Given the description of an element on the screen output the (x, y) to click on. 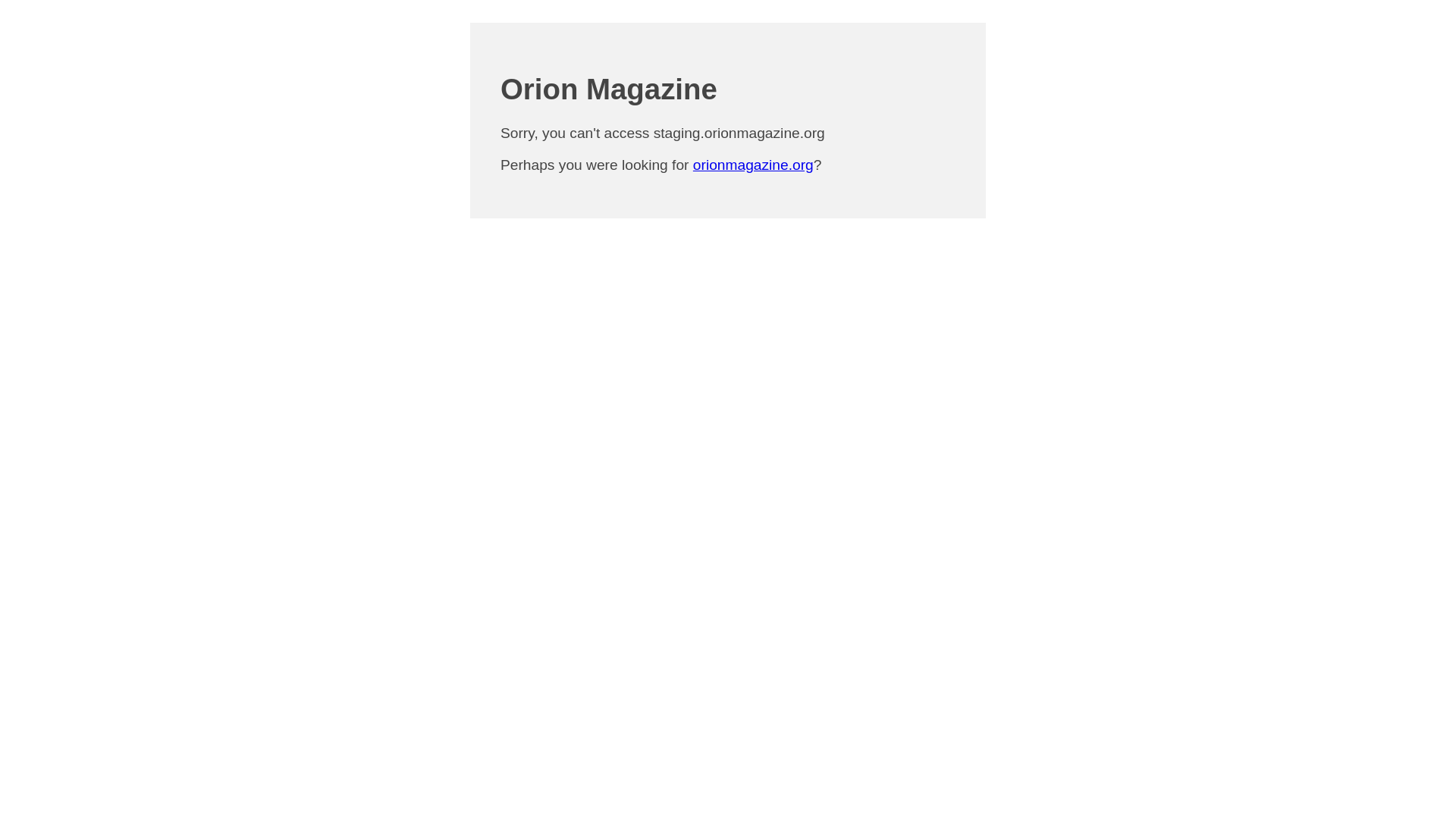
orionmagazine.org (753, 164)
